Given the description of an element on the screen output the (x, y) to click on. 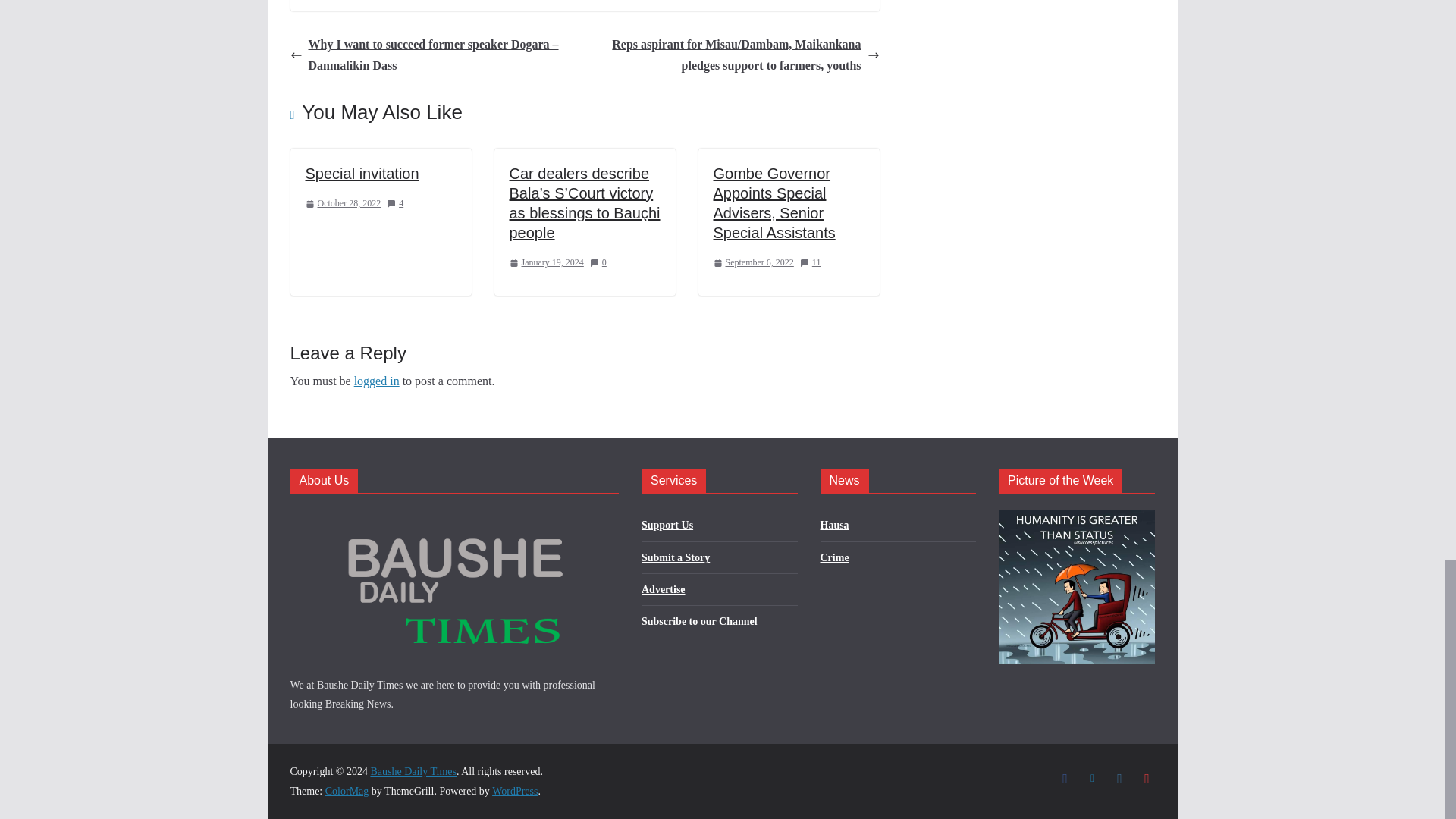
Special invitation (361, 173)
October 28, 2022 (342, 203)
